Given the description of an element on the screen output the (x, y) to click on. 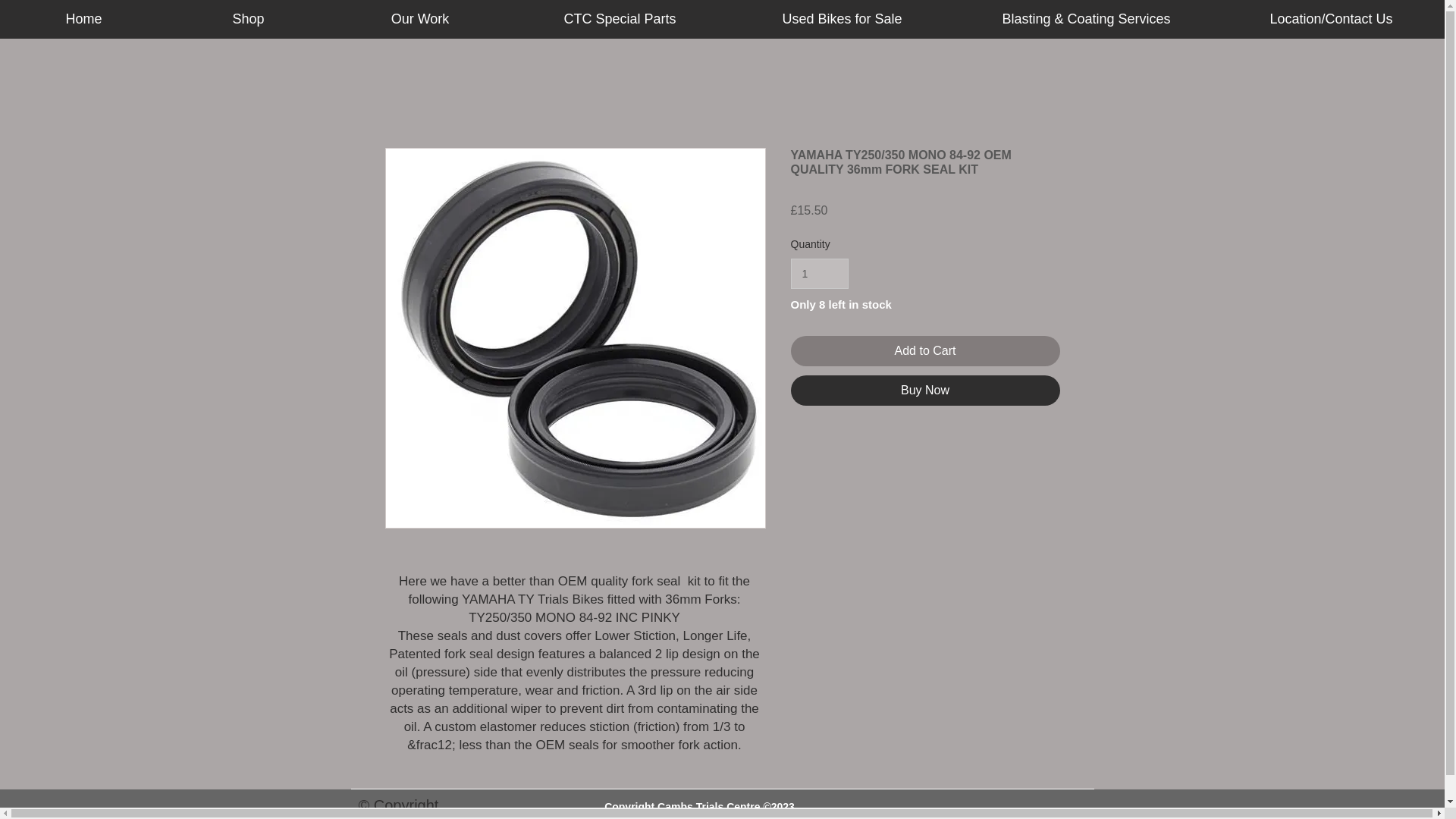
Buy Now (924, 390)
Our Work (420, 19)
CTC Special Parts (620, 19)
Add to Cart (924, 350)
Shop (248, 19)
Home (83, 19)
Used Bikes for Sale (842, 19)
1 (818, 273)
